Given the description of an element on the screen output the (x, y) to click on. 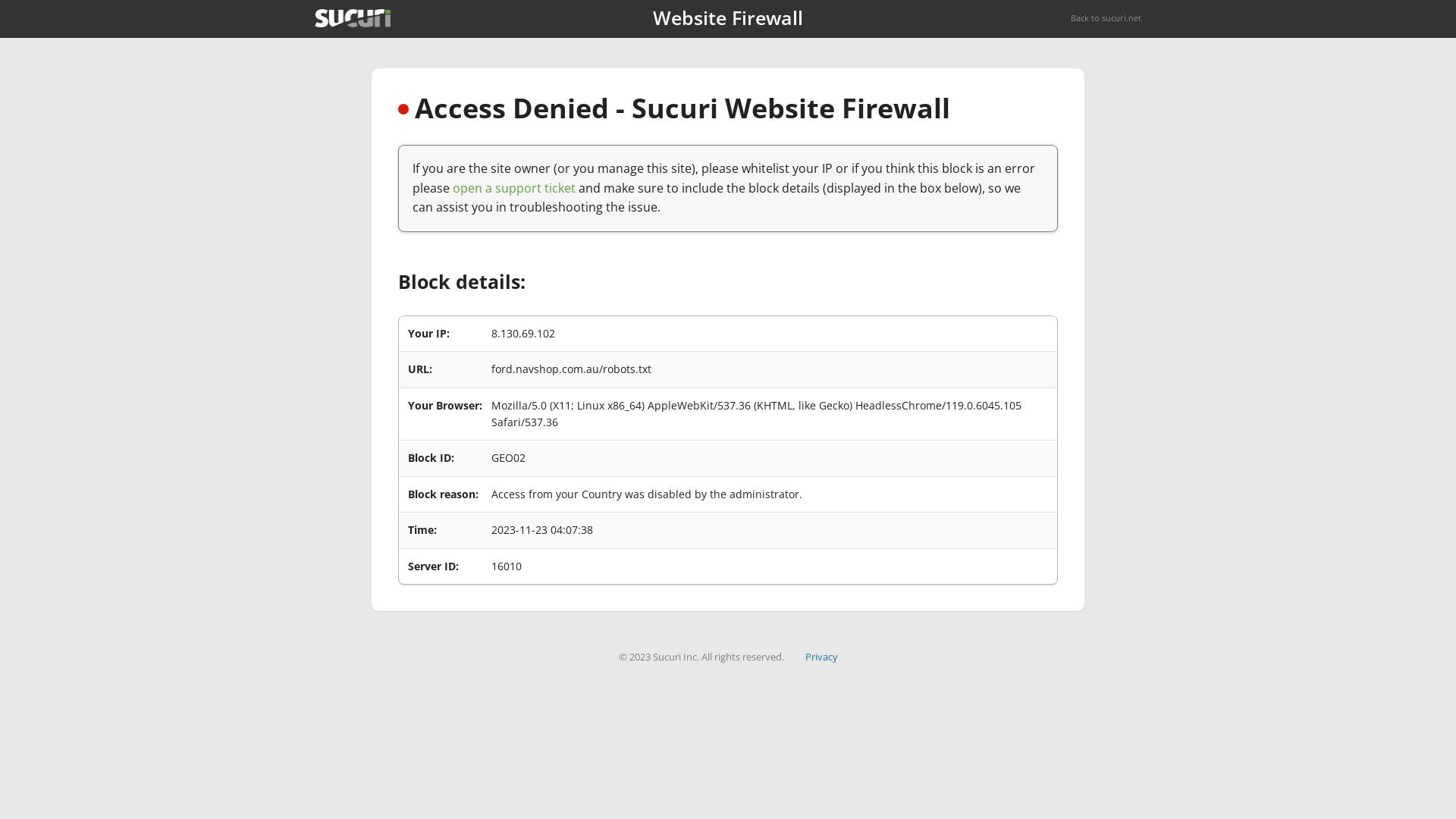
Back to sucuri.net Element type: text (1105, 18)
Privacy Element type: text (821, 656)
open a support ticket Element type: text (513, 187)
